Given the description of an element on the screen output the (x, y) to click on. 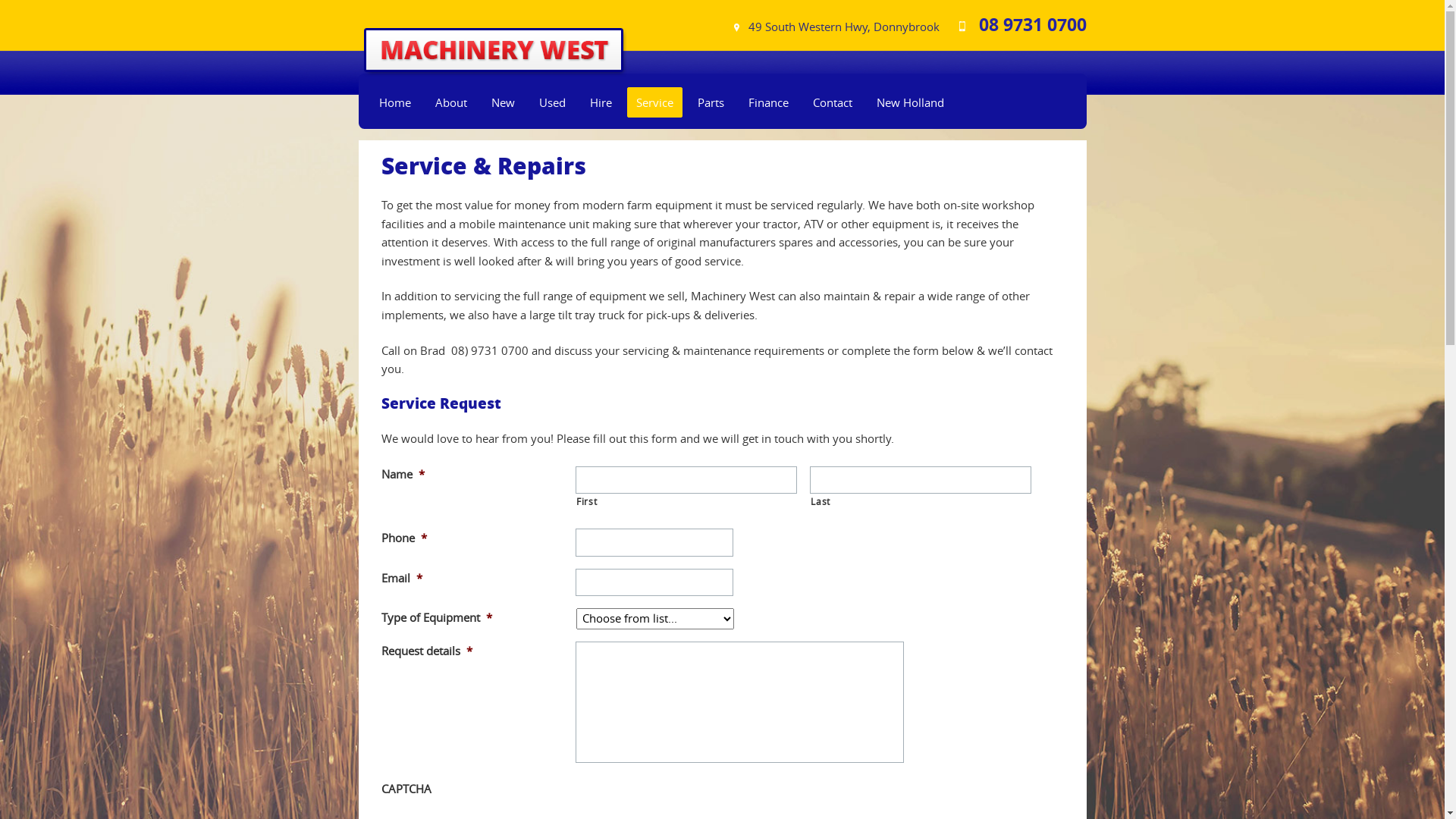
About Element type: text (451, 102)
Hire Element type: text (600, 102)
New Element type: text (503, 102)
Parts Element type: text (711, 102)
New Holland Element type: text (910, 102)
08 9731 0700 Element type: text (1014, 24)
Finance Element type: text (767, 102)
Service Element type: text (654, 102)
Home Element type: text (395, 102)
Used Element type: text (551, 102)
Contact Element type: text (832, 102)
